Given the description of an element on the screen output the (x, y) to click on. 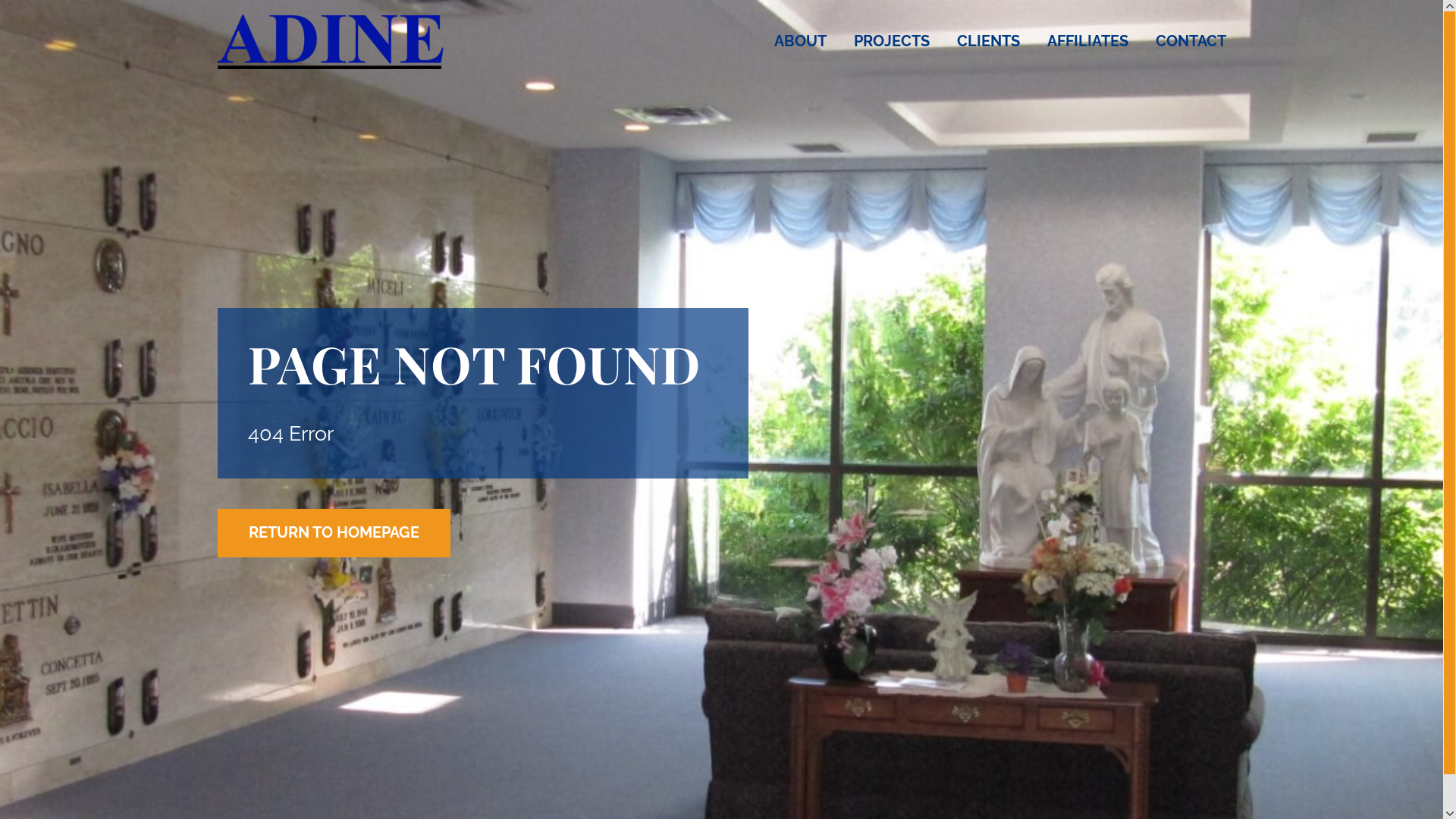
RETURN TO HOMEPAGE Element type: text (332, 532)
CLIENTS Element type: text (988, 41)
AFFILIATES Element type: text (1086, 41)
ABOUT Element type: text (799, 41)
PROJECTS Element type: text (891, 41)
CONTACT Element type: text (1184, 41)
